Given the description of an element on the screen output the (x, y) to click on. 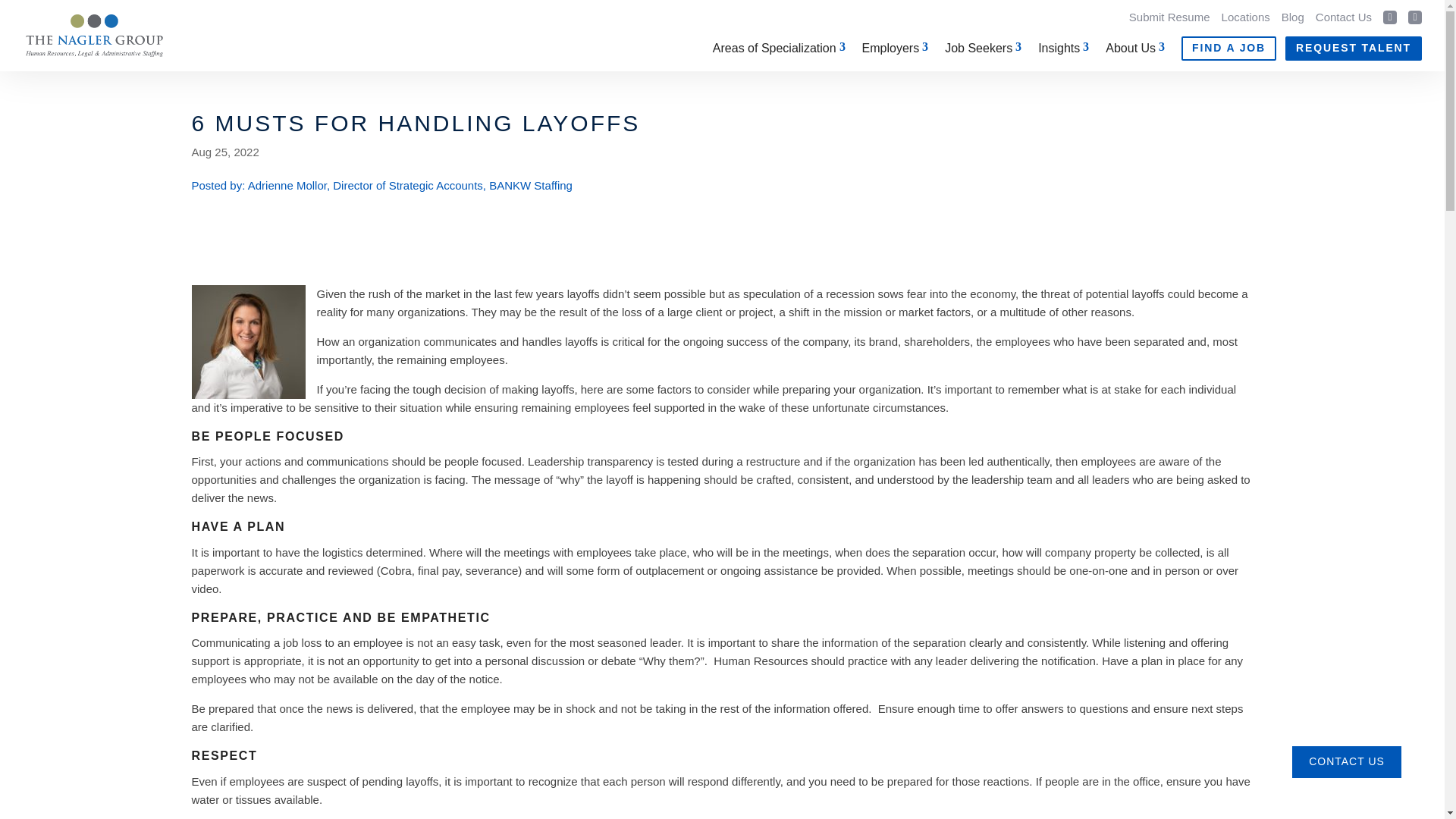
Contact Us (1343, 17)
Submit Resume (1169, 17)
About Us (1134, 48)
Insights (1063, 48)
Employers (894, 48)
Areas of Specialization (779, 48)
Job Seekers (983, 48)
Locations (1245, 17)
Blog (1292, 17)
